Given the description of an element on the screen output the (x, y) to click on. 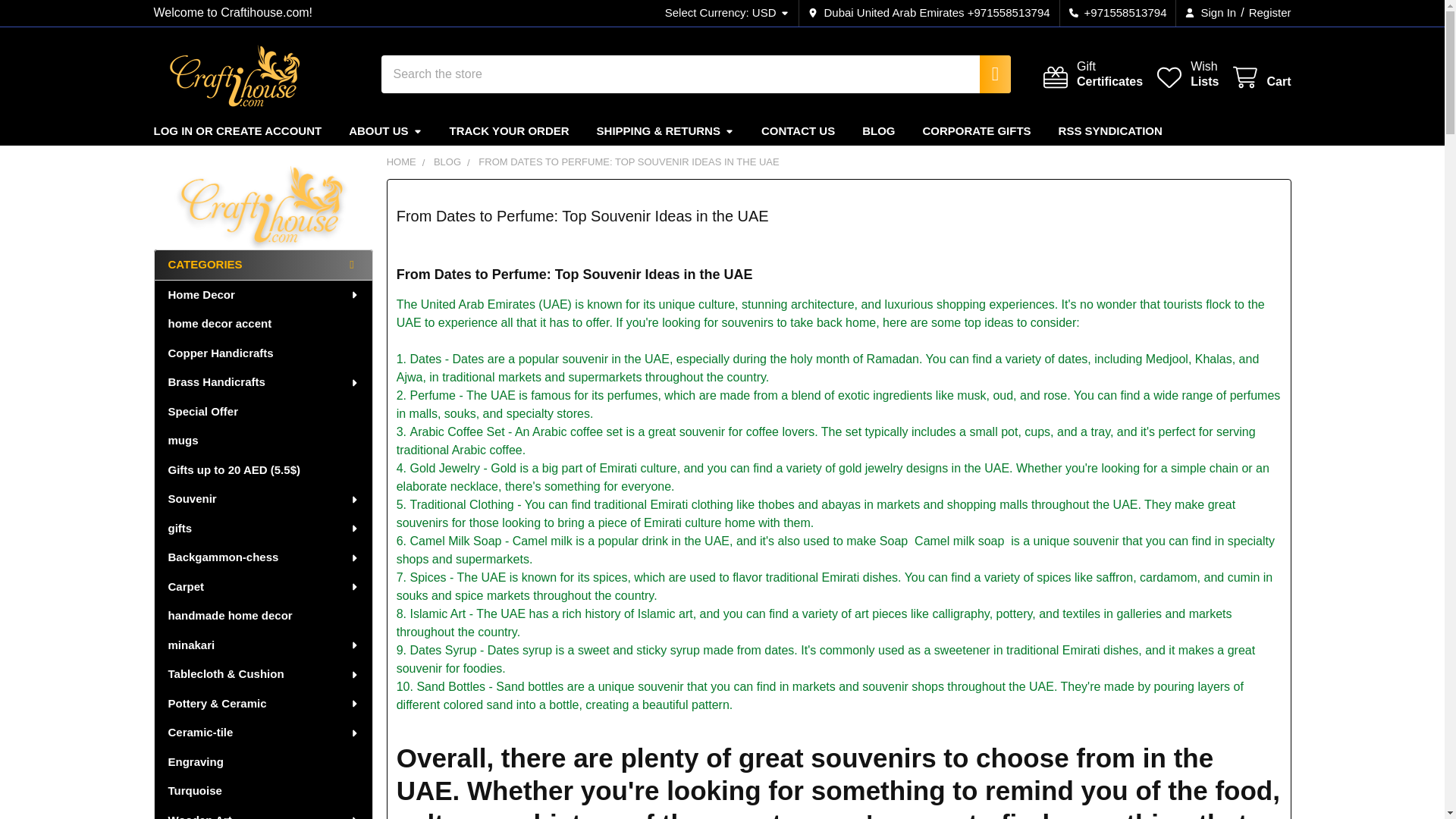
Cart (1260, 77)
Search (986, 74)
Register (727, 13)
Craftihouse.com (1265, 13)
Gift Certificates (234, 74)
Sign In (1186, 73)
Cart (1091, 73)
Search (1210, 13)
Wish Lists (1260, 77)
